Given the description of an element on the screen output the (x, y) to click on. 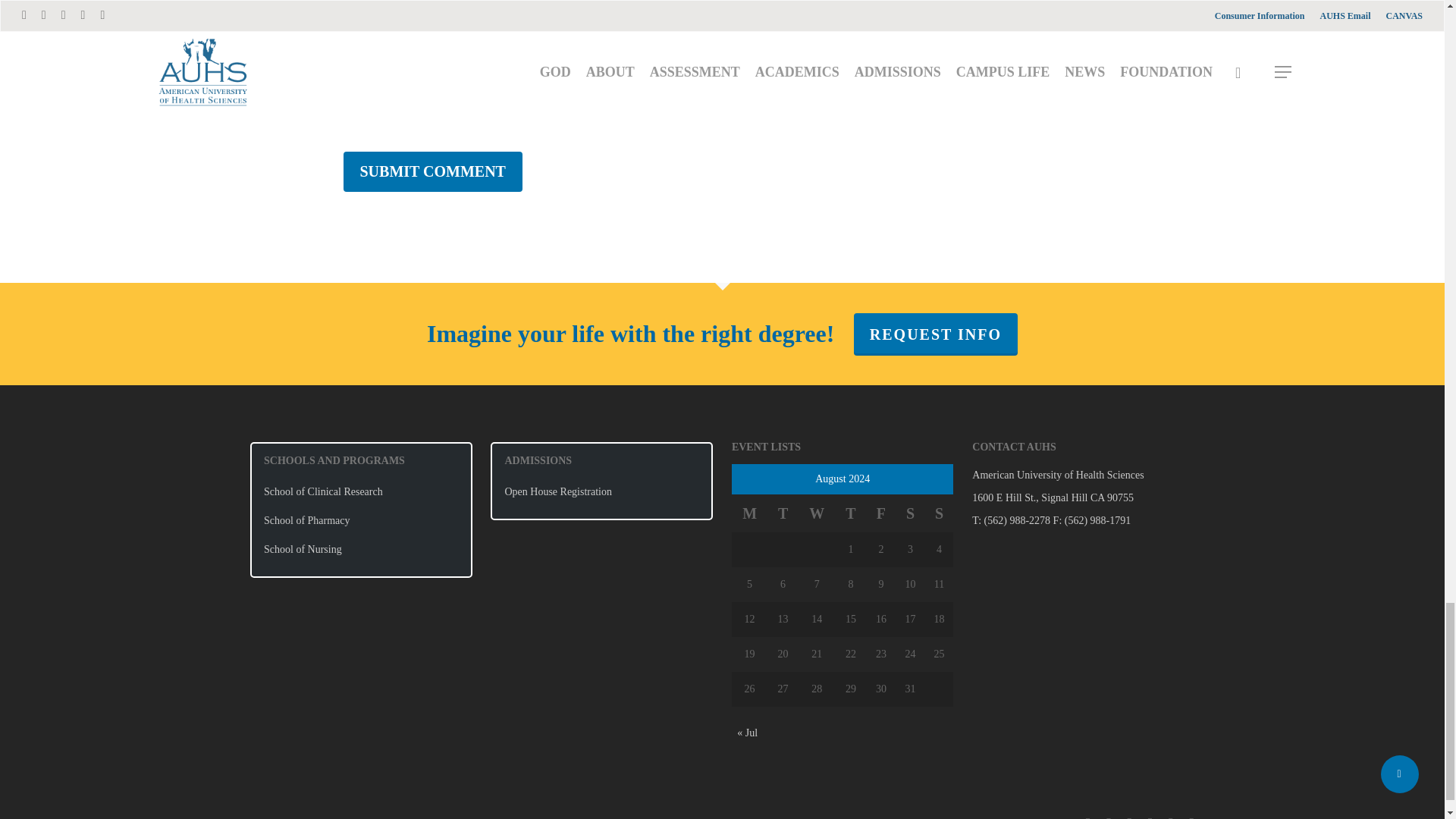
Submit Comment (431, 171)
Submit Comment (431, 171)
School of Pharmacy (360, 520)
REQUEST INFO (935, 333)
Wednesday (816, 513)
School of Clinical Research (360, 491)
yes (350, 103)
Monday (749, 513)
